Given the description of an element on the screen output the (x, y) to click on. 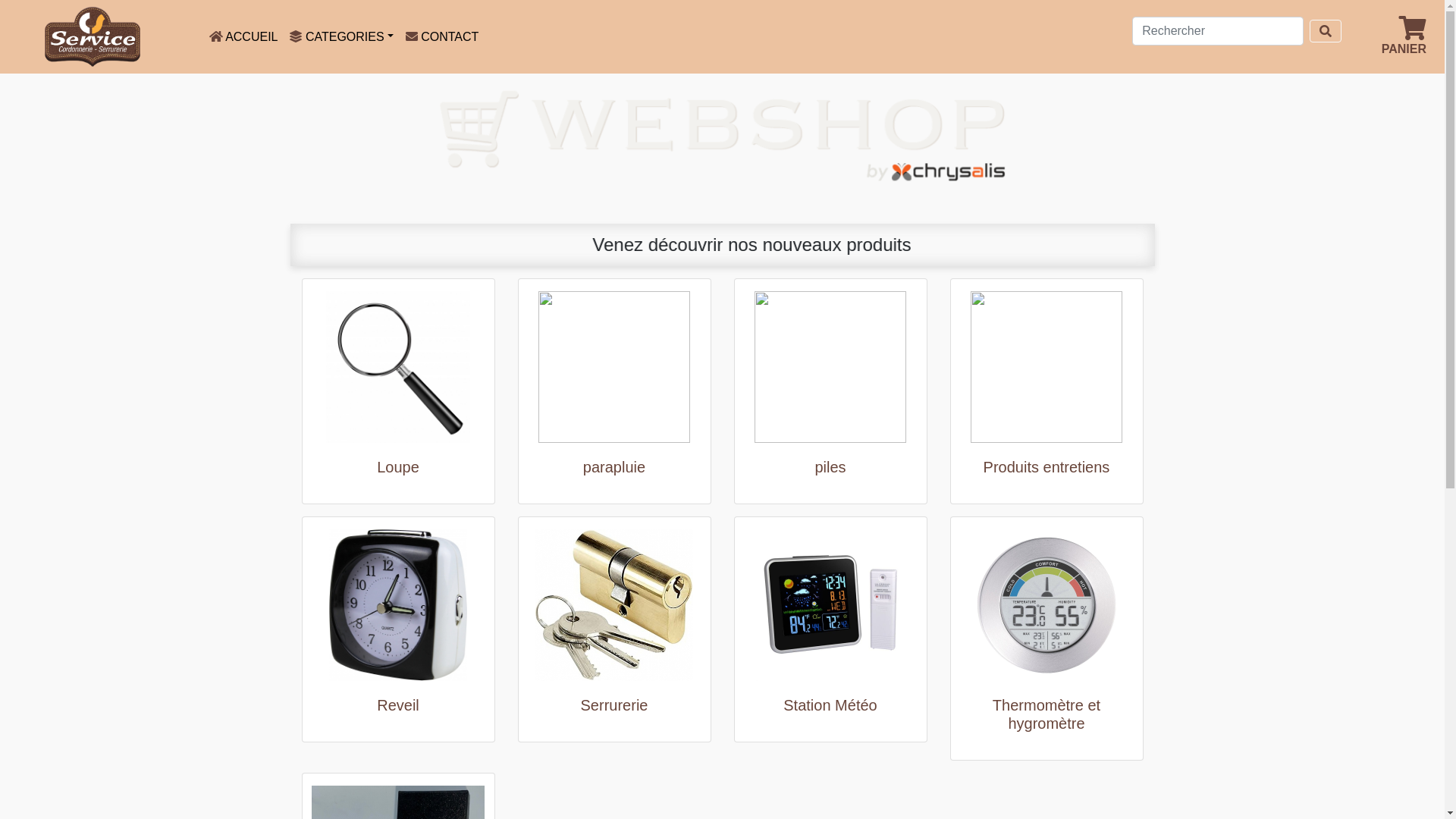
CATEGORIES Element type: text (340, 36)
PANIER Element type: text (1403, 36)
Serrurerie Element type: text (614, 705)
ACCUEIL Element type: text (243, 36)
Reveil Element type: text (397, 705)
 CONTACT Element type: text (442, 36)
parapluie Element type: text (614, 467)
piles Element type: text (829, 467)
Loupe Element type: text (397, 467)
Produits entretiens Element type: text (1046, 467)
